Given the description of an element on the screen output the (x, y) to click on. 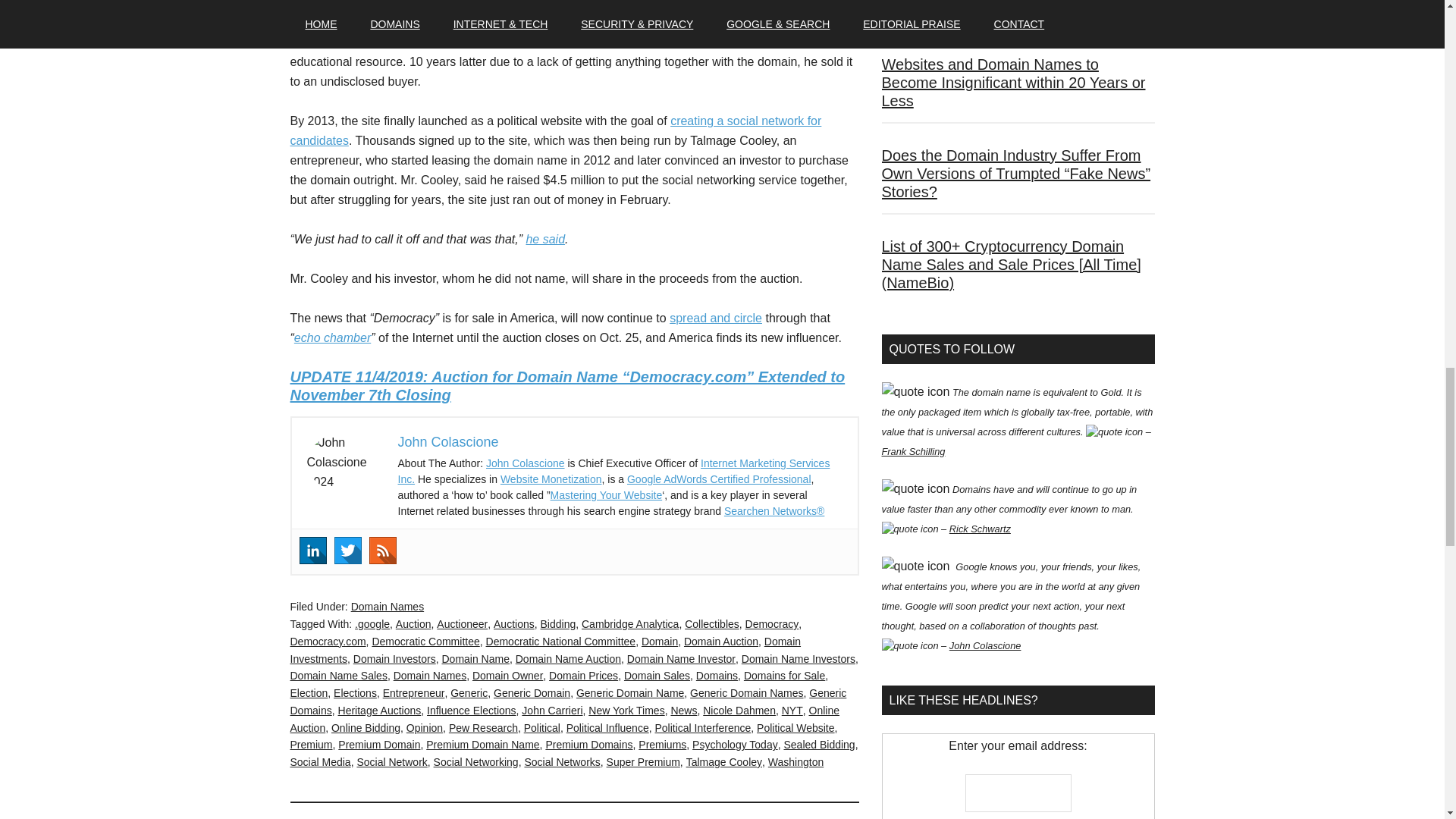
Website Monetization (551, 479)
Twitter (347, 550)
Internet Marketing Services Inc. (613, 471)
Rss (382, 550)
echo chamber (332, 337)
John Colascione (525, 463)
creating a social network for candidates (555, 130)
John Colascione (447, 441)
Linkedin (312, 550)
spread and circle (715, 318)
